Given the description of an element on the screen output the (x, y) to click on. 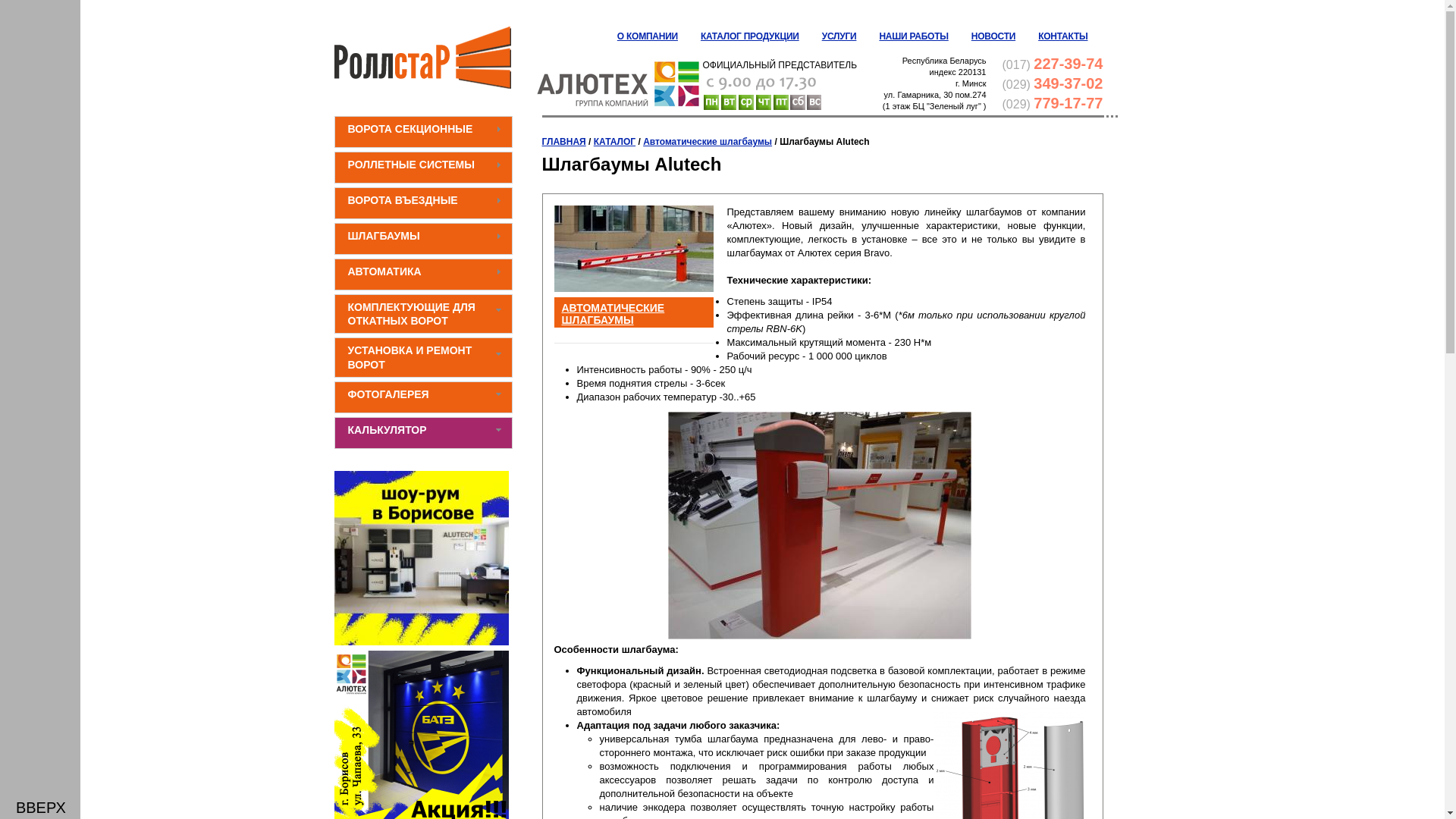
(017) 227-39-74 Element type: text (1052, 64)
(029) 349-37-02 Element type: text (1052, 84)
(029) 779-17-77 Element type: text (1052, 103)
